Given the description of an element on the screen output the (x, y) to click on. 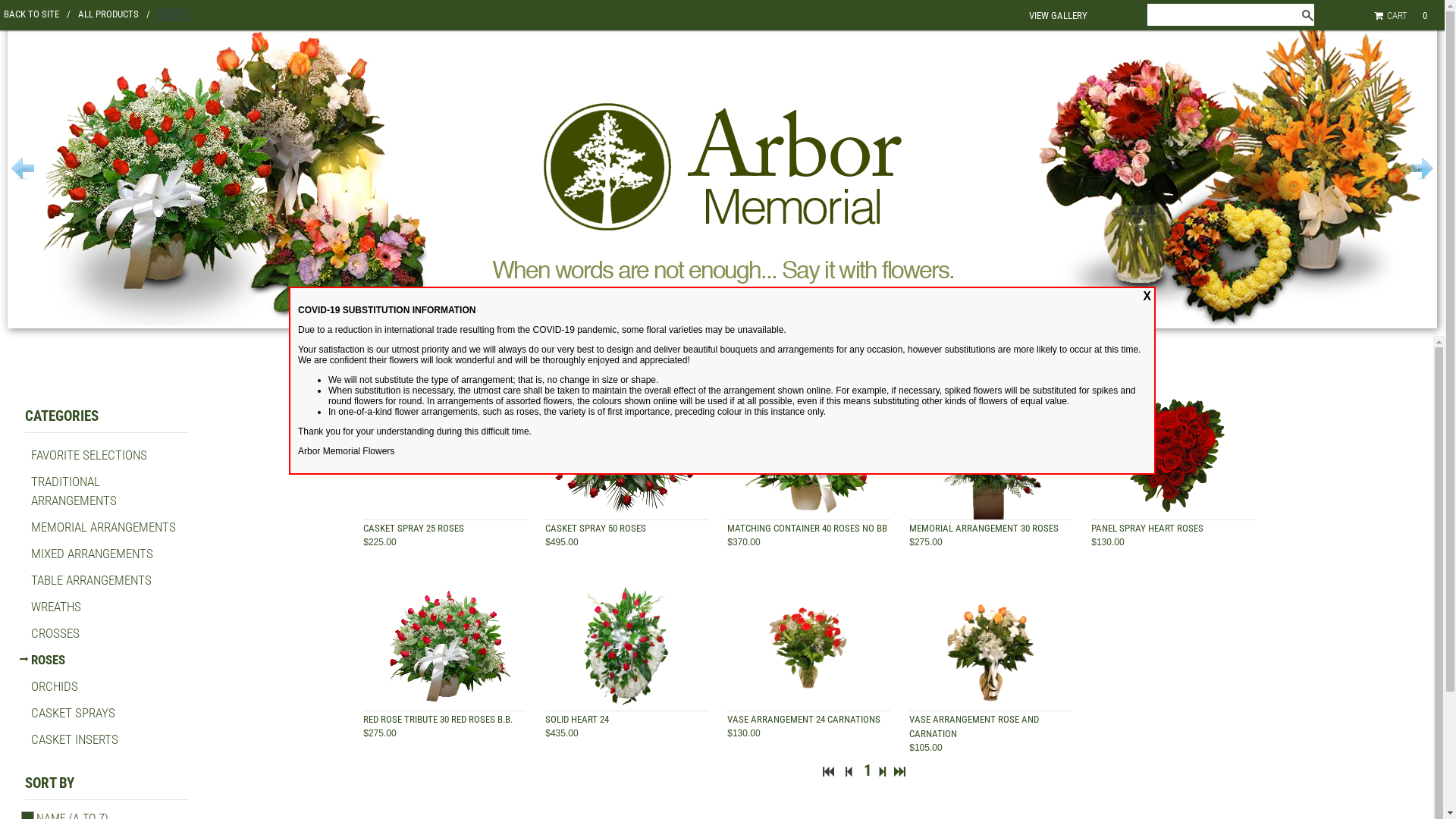
$225.00 Element type: text (379, 541)
$435.00 Element type: text (561, 733)
$130.00 Element type: text (1107, 541)
$130.00 Element type: text (743, 733)
$105.00 Element type: text (925, 747)
RED ROSE TRIBUTE 30 RED ROSES B.B. Element type: text (437, 718)
TABLE ARRANGEMENTS Element type: text (91, 579)
MEMORIAL ARRANGEMENT 30 ROSES Element type: text (983, 527)
CASKET SPRAY 25 ROSES Element type: text (413, 527)
CART Element type: text (1393, 15)
FAVORITE SELECTIONS Element type: text (89, 454)
ROSES Element type: text (48, 659)
WREATHS Element type: text (56, 606)
$370.00 Element type: text (743, 541)
VASE ARRANGEMENT 24 CARNATIONS Element type: text (803, 718)
CASKET SPRAYS Element type: text (73, 712)
$275.00 Element type: text (925, 541)
ORCHIDS Element type: text (54, 685)
SOLID HEART 24 Element type: text (576, 718)
PANEL SPRAY HEART ROSES Element type: text (1147, 527)
BACK TO SITE Element type: text (36, 13)
VASE ARRANGEMENT ROSE AND CARNATION Element type: text (973, 726)
$495.00 Element type: text (561, 541)
MATCHING CONTAINER 40 ROSES NO BB Element type: text (807, 527)
CASKET SPRAY 50 ROSES Element type: text (595, 527)
TRADITIONAL ARRANGEMENTS Element type: text (73, 490)
$275.00 Element type: text (379, 733)
VIEW GALLERY Element type: text (1058, 15)
MEMORIAL ARRANGEMENTS Element type: text (103, 526)
CASKET INSERTS Element type: text (74, 738)
MIXED ARRANGEMENTS Element type: text (92, 553)
CROSSES Element type: text (55, 632)
ALL PRODUCTS Element type: text (114, 13)
